Given the description of an element on the screen output the (x, y) to click on. 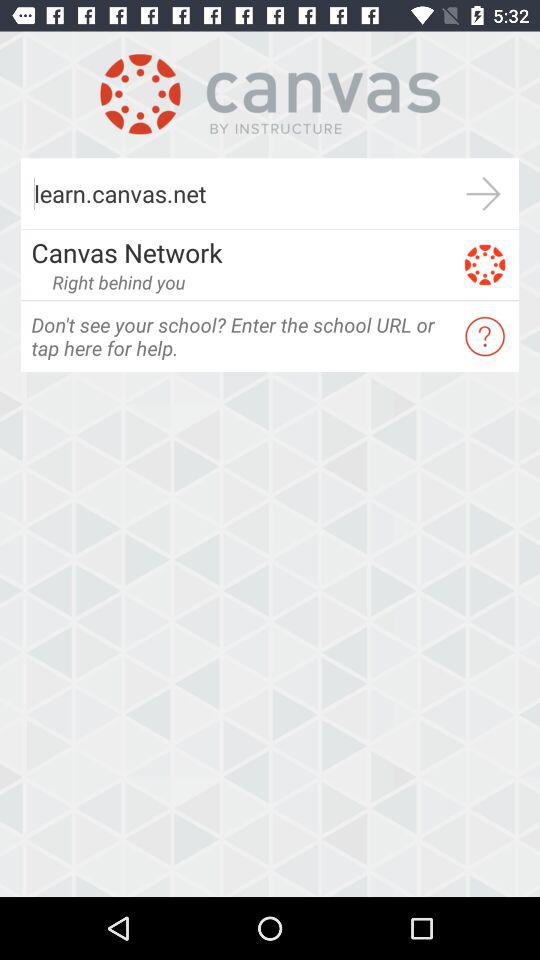
turn off item above right behind you item (240, 252)
